Given the description of an element on the screen output the (x, y) to click on. 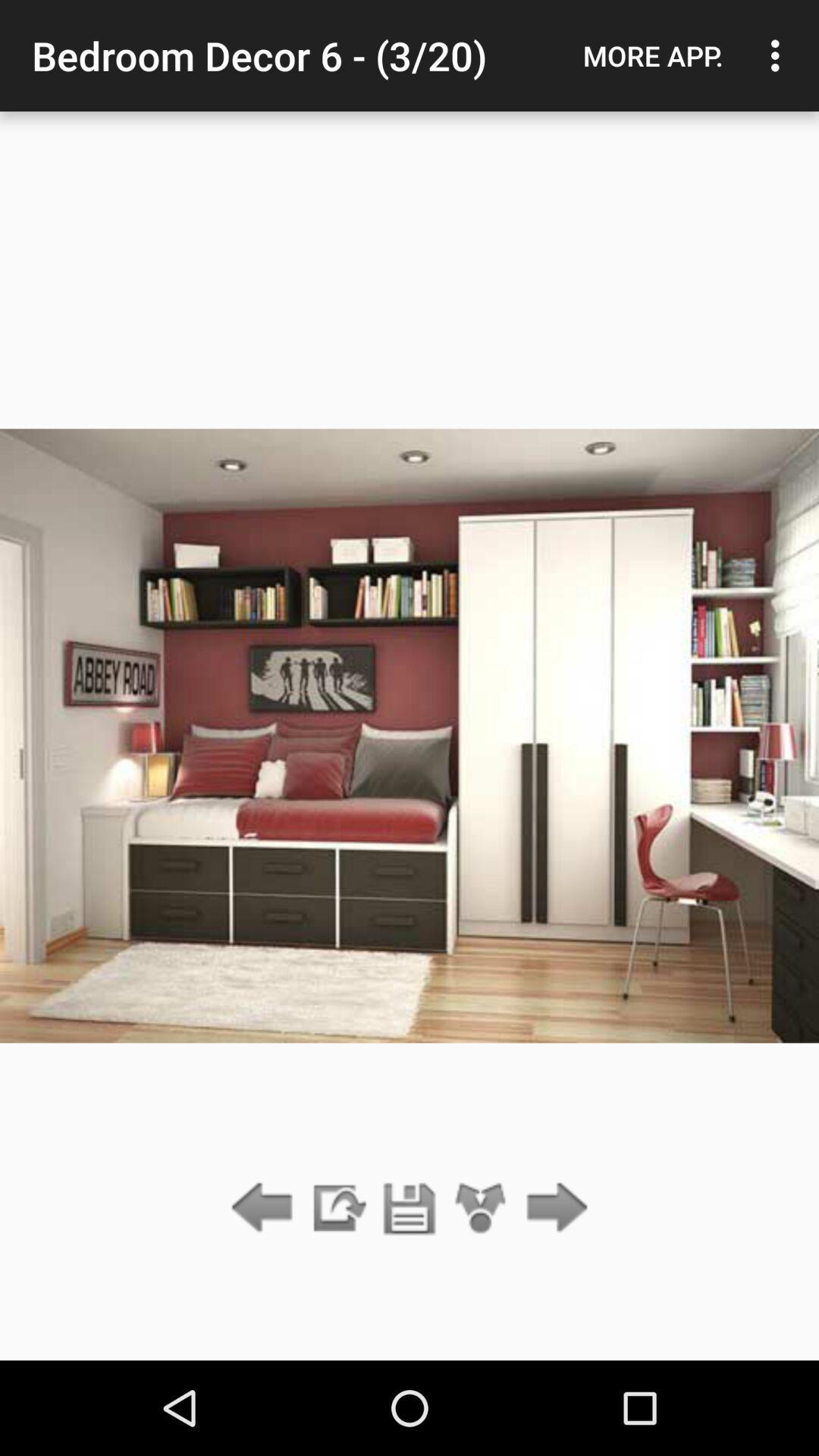
open the item to the right of the more app. item (779, 55)
